Given the description of an element on the screen output the (x, y) to click on. 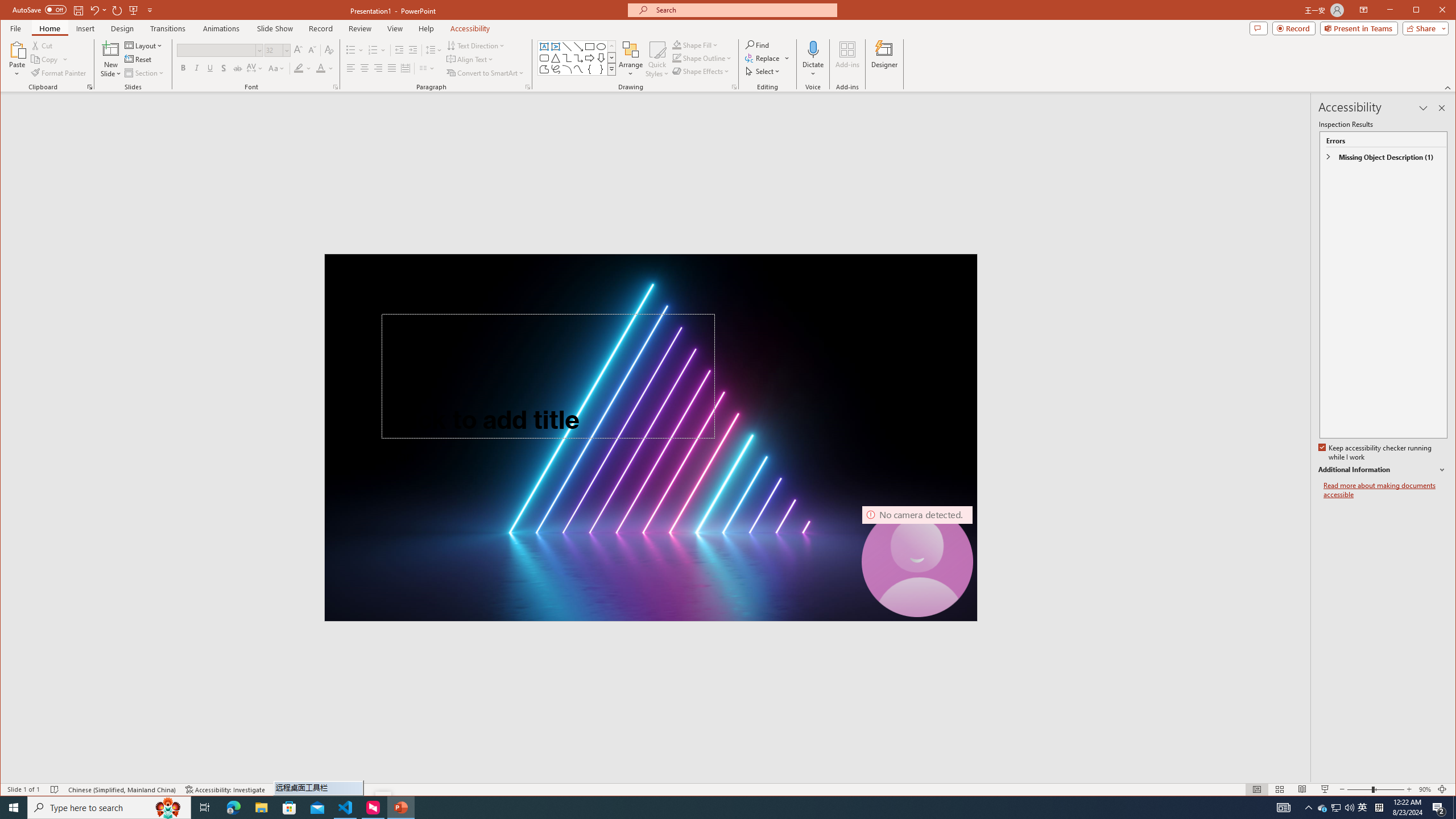
Curve (577, 69)
Freeform: Scribble (556, 69)
Quick Styles (658, 59)
Connector: Elbow Arrow (577, 57)
Align Right (377, 68)
Left Brace (589, 69)
